Given the description of an element on the screen output the (x, y) to click on. 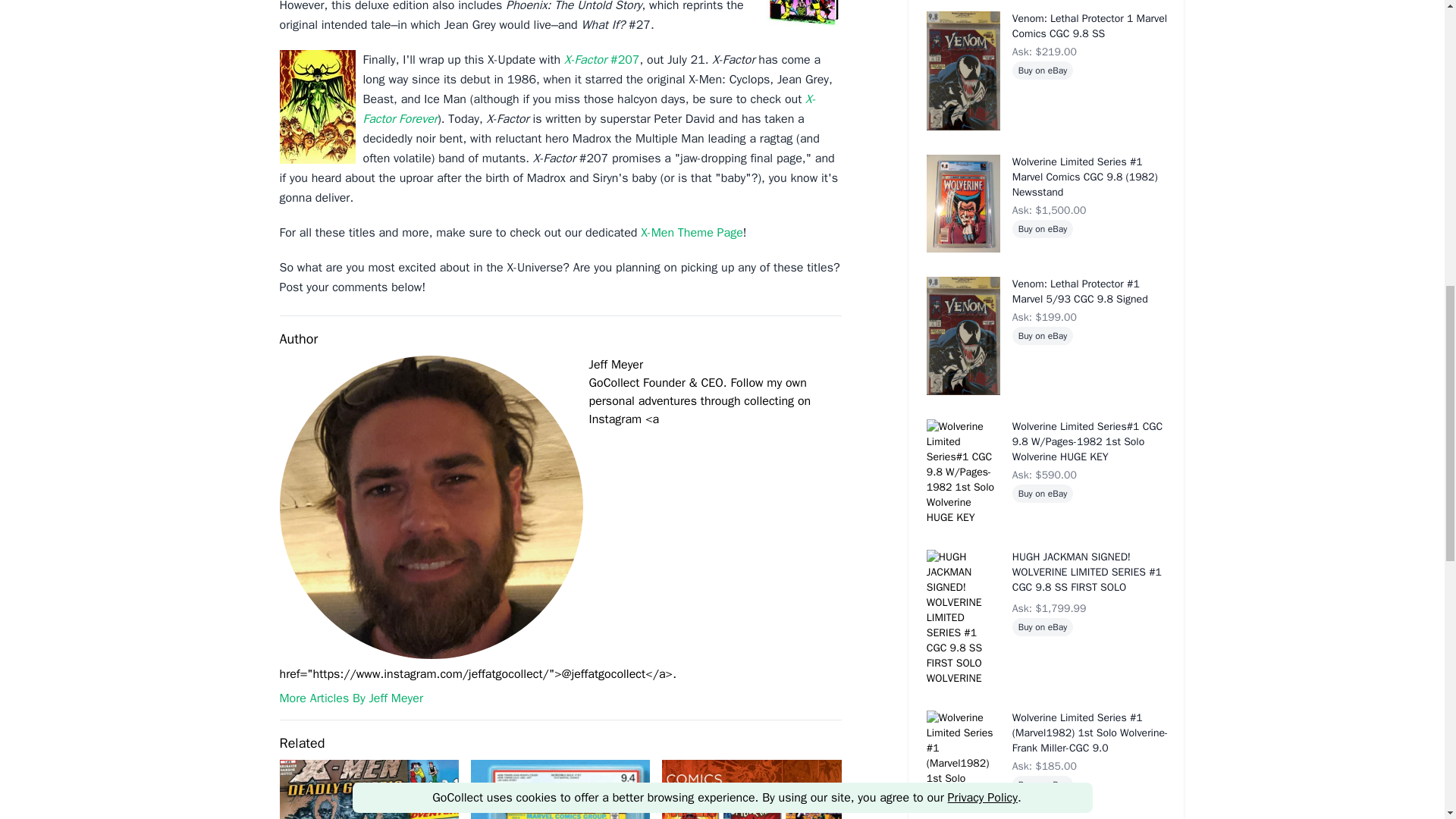
X-Men Dark Phoenix Saga HC (803, 15)
